Given the description of an element on the screen output the (x, y) to click on. 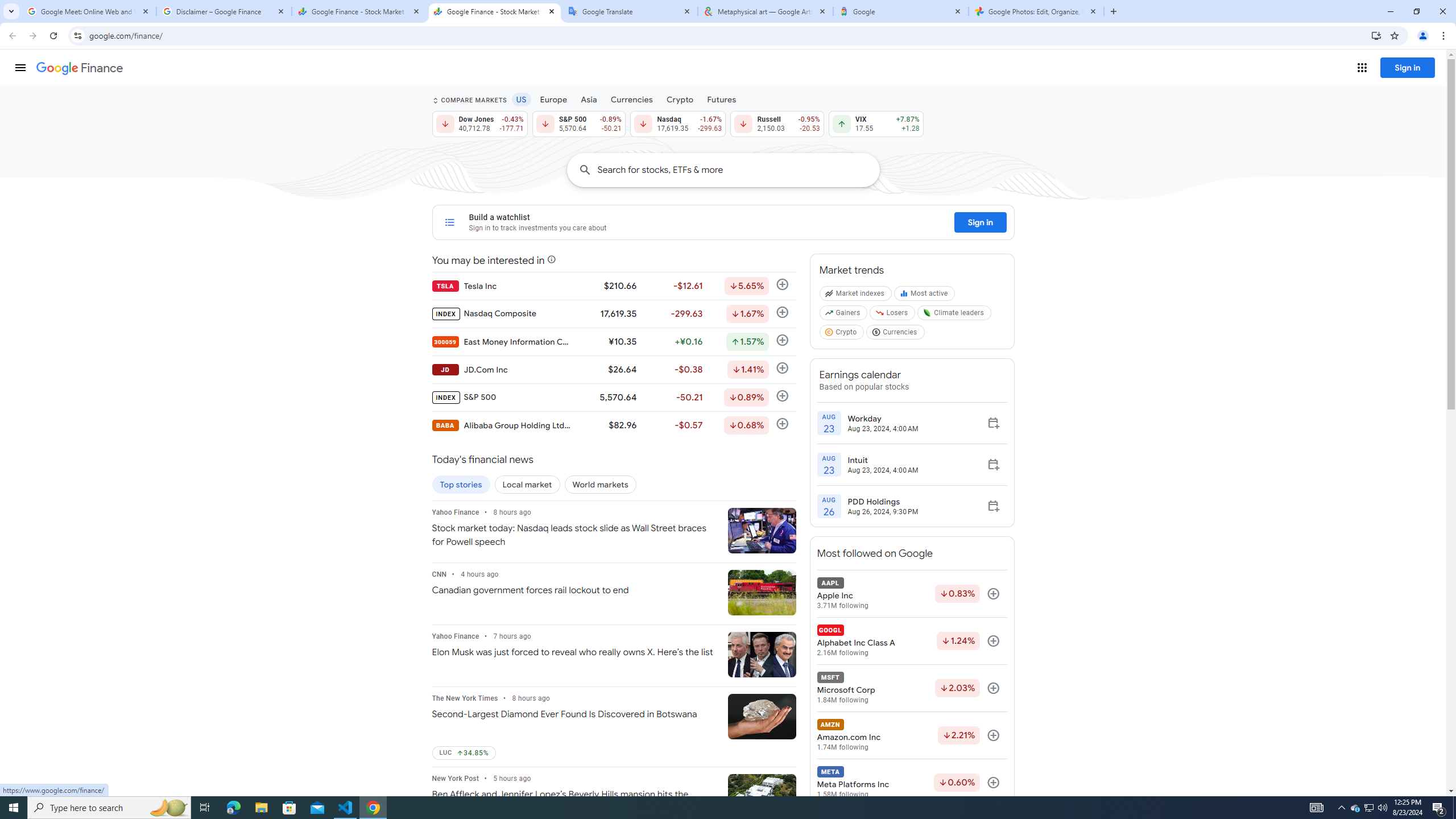
VIX 17.55 Up by 7.87% +1.28 (875, 123)
